Given the description of an element on the screen output the (x, y) to click on. 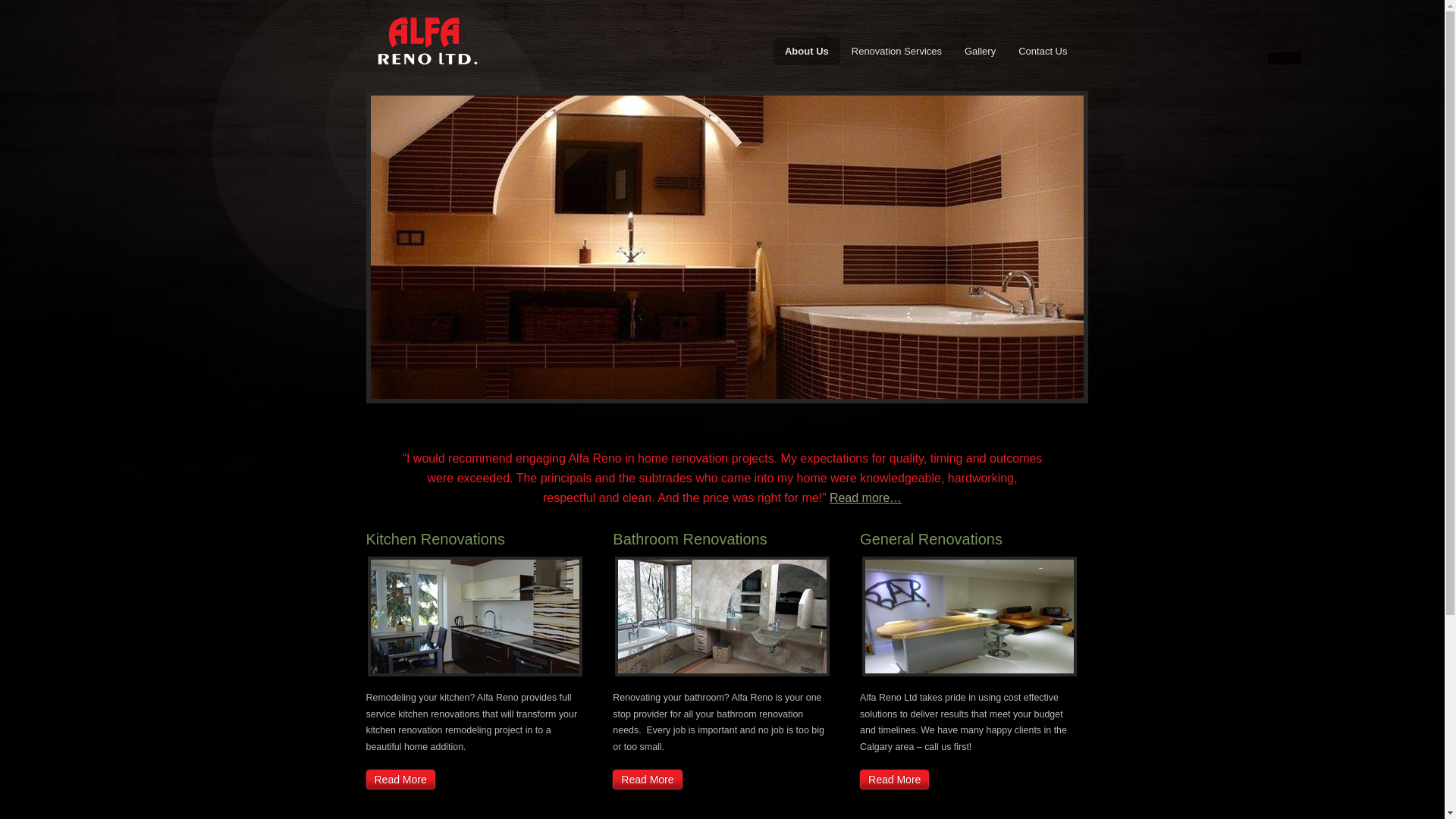
Gallery Element type: text (979, 51)
Renovation Services Element type: text (896, 51)
Contact Us Element type: text (1042, 51)
Decorative Concrete - Calgary Element type: hover (969, 616)
About Us Element type: text (806, 51)
Read More Element type: text (646, 779)
Read More Element type: text (399, 779)
Read More Element type: text (893, 779)
Custom bathroom renovations Element type: hover (722, 616)
Custom kitchen renovations Element type: hover (474, 616)
